Given the description of an element on the screen output the (x, y) to click on. 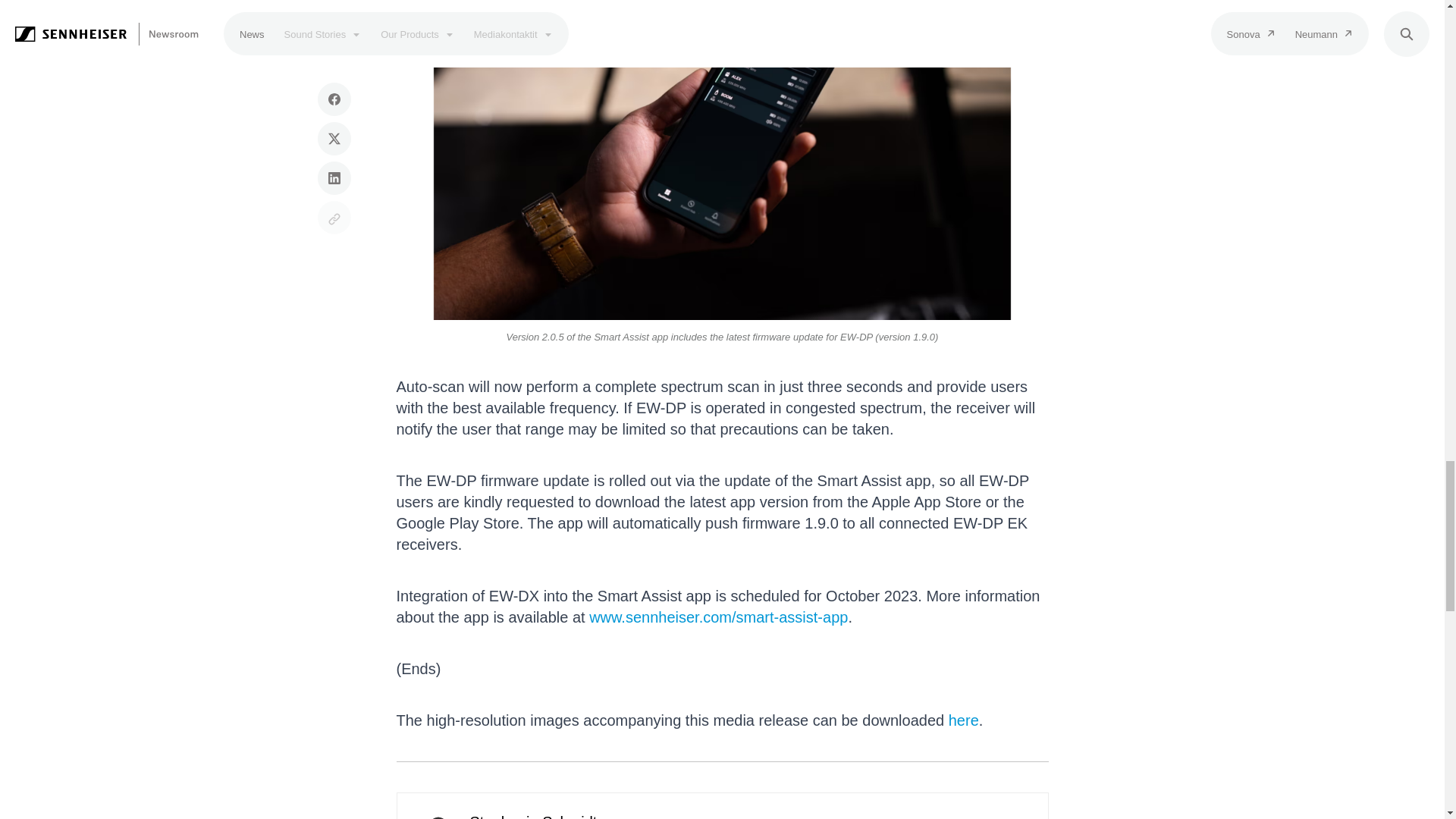
here (963, 719)
Stephanie Schmidt (437, 815)
